Given the description of an element on the screen output the (x, y) to click on. 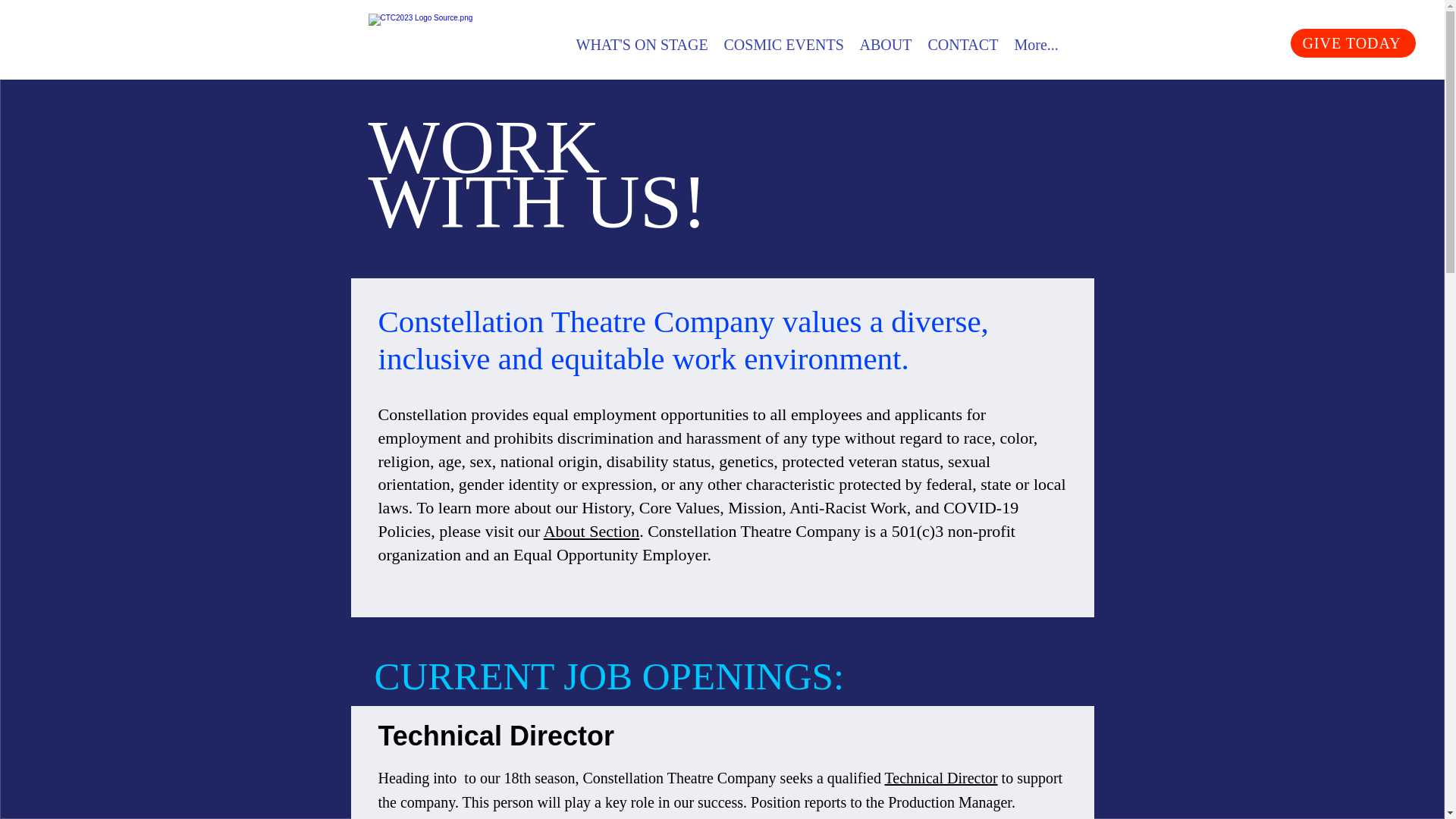
ection (618, 530)
COSMIC EVENTS (783, 44)
About S (570, 530)
GIVE TODAY (1352, 42)
CONTACT (963, 44)
